Given the description of an element on the screen output the (x, y) to click on. 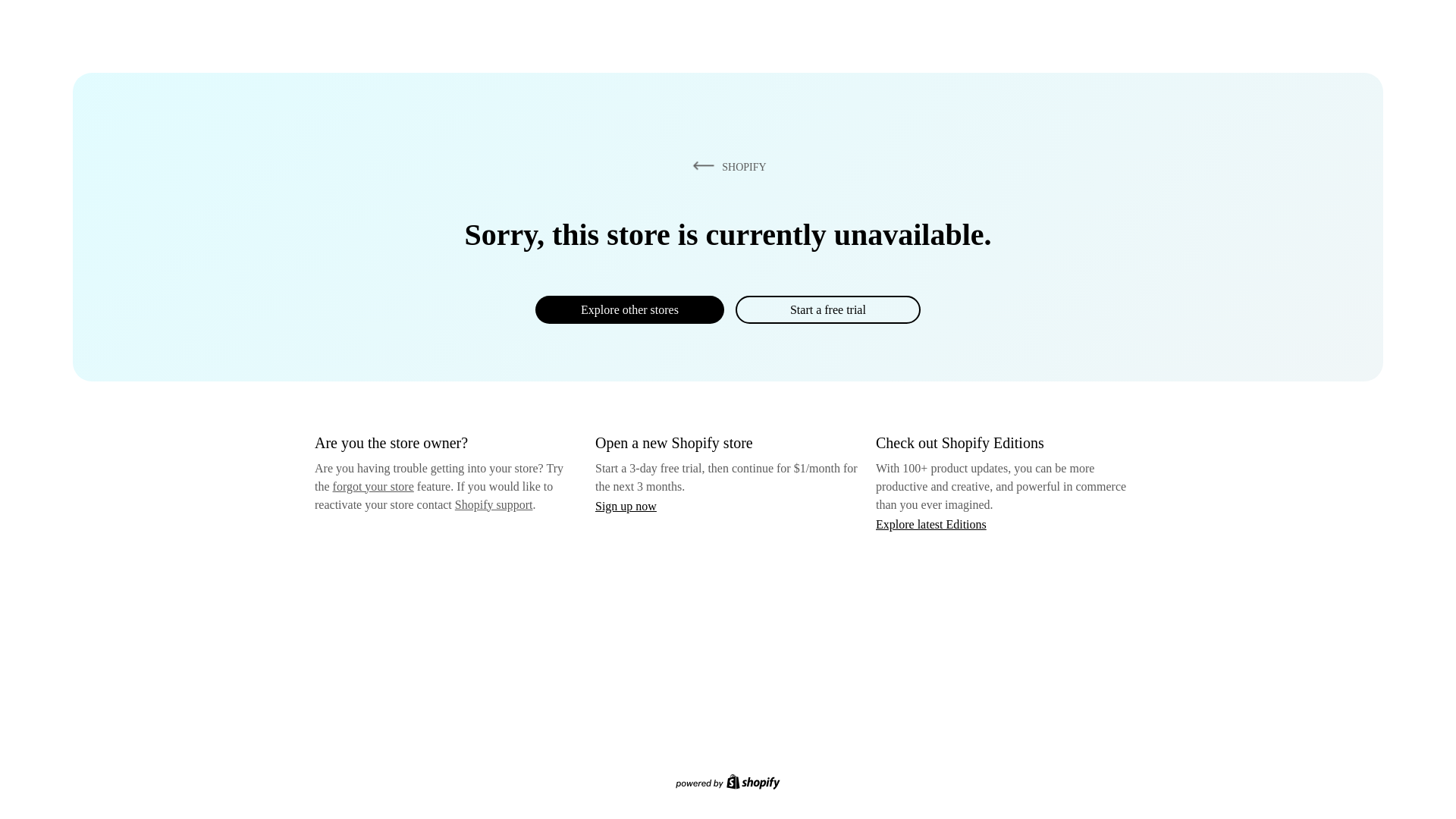
forgot your store (373, 486)
Explore other stores (629, 309)
Explore latest Editions (931, 523)
Start a free trial (827, 309)
SHOPIFY (726, 166)
Shopify support (493, 504)
Sign up now (625, 505)
